Given the description of an element on the screen output the (x, y) to click on. 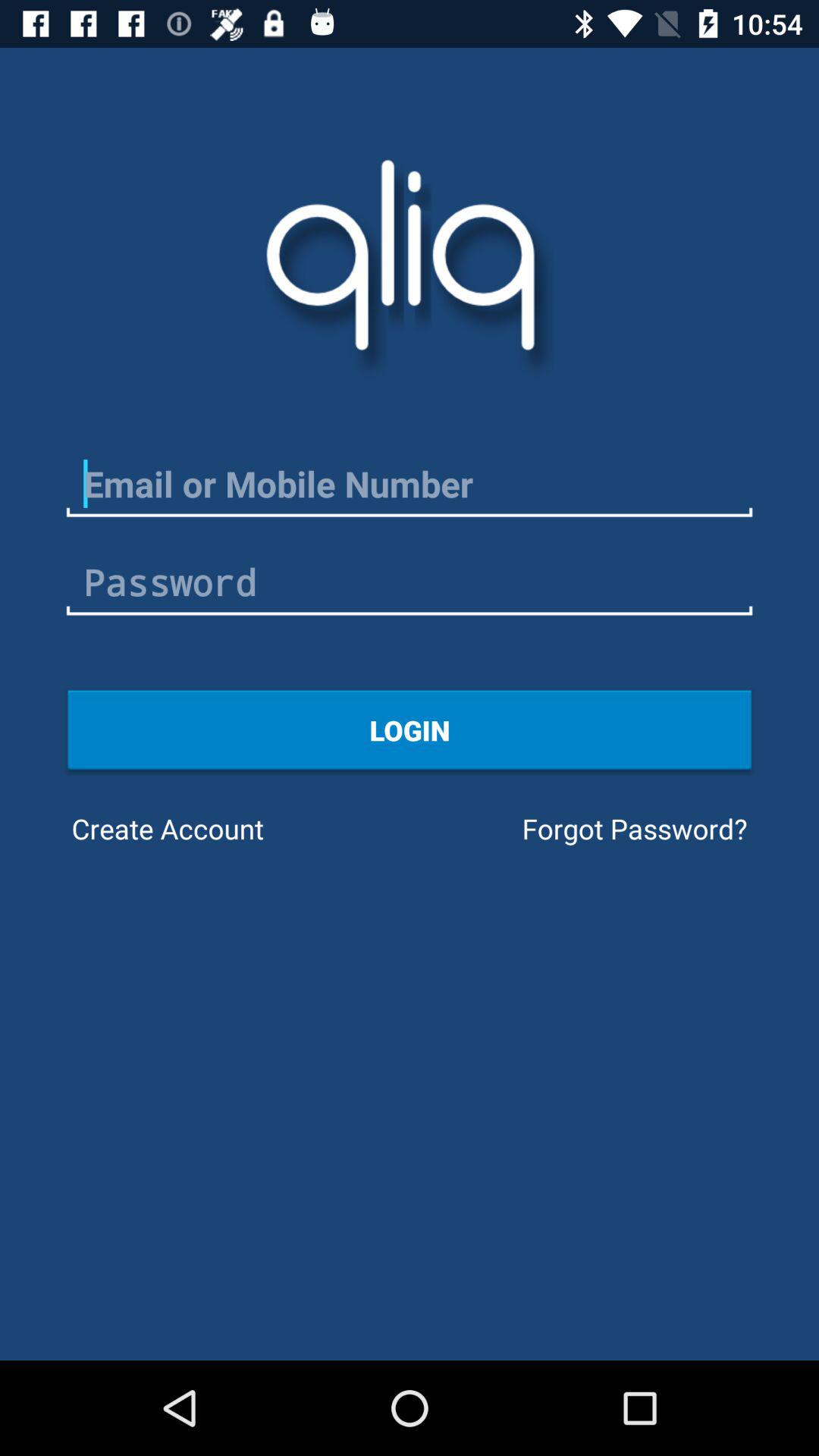
enter user id (409, 484)
